Given the description of an element on the screen output the (x, y) to click on. 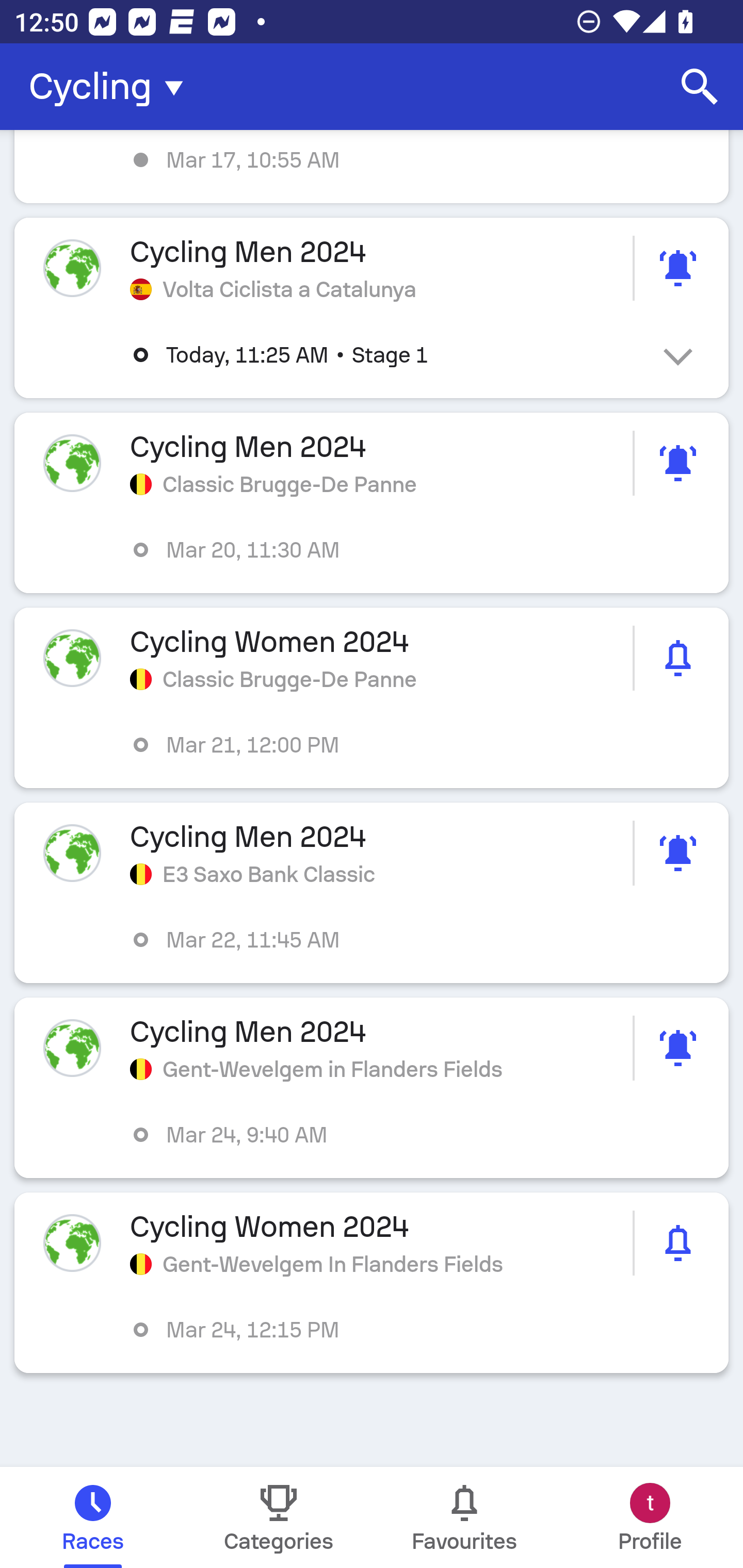
Cycling (111, 86)
Search (699, 86)
Mar 17, 10:55 AM (371, 166)
Today, 11:25 AM • Stage 1 (385, 355)
Categories (278, 1517)
Favourites (464, 1517)
Profile (650, 1517)
